Given the description of an element on the screen output the (x, y) to click on. 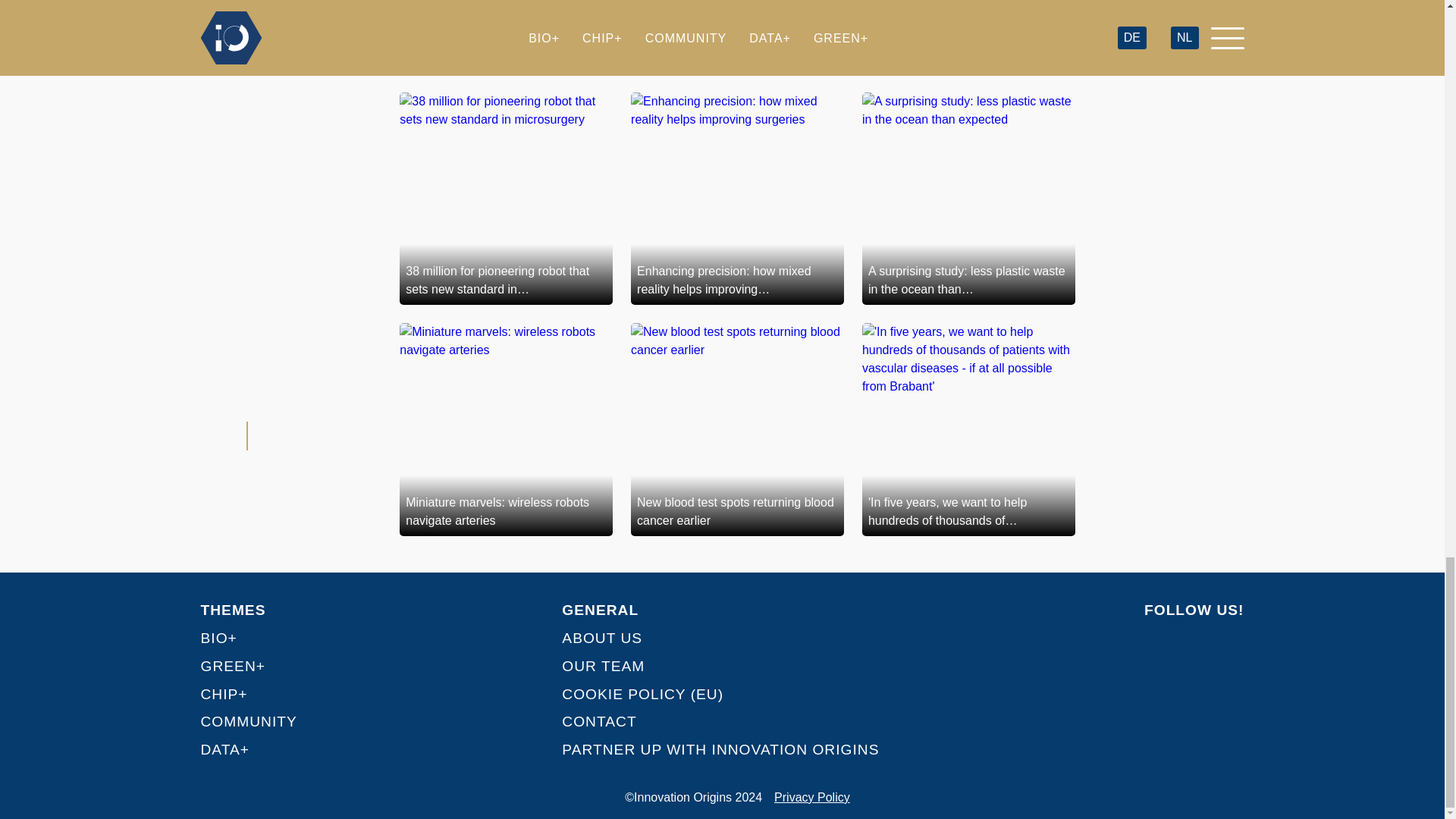
Miniature marvels: wireless robots navigate arteries (505, 429)
